Given the description of an element on the screen output the (x, y) to click on. 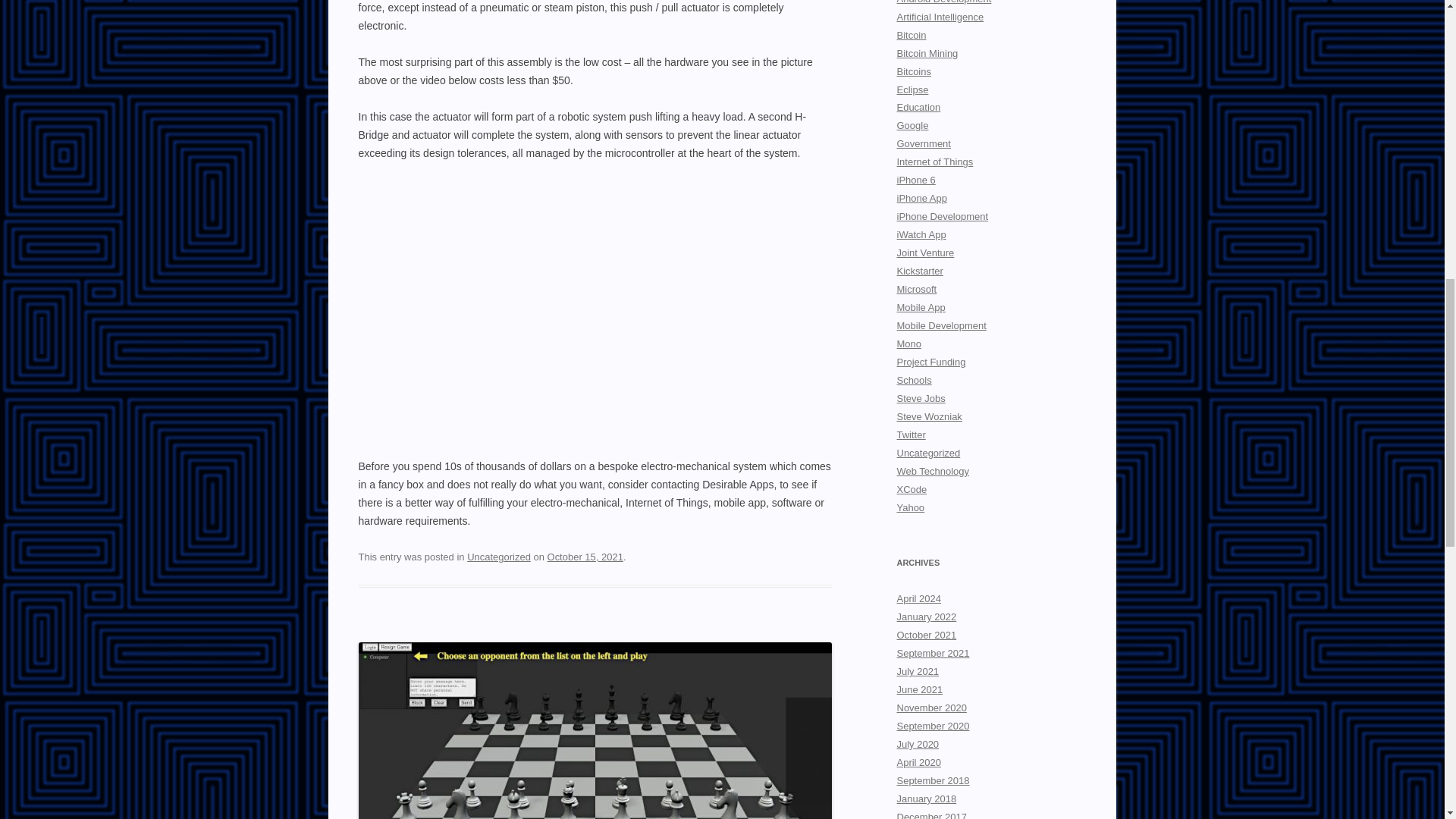
October 15, 2021 (585, 556)
4:22 am (585, 556)
Arduino Linear Actuator Controller (594, 313)
Uncategorized (499, 556)
